Given the description of an element on the screen output the (x, y) to click on. 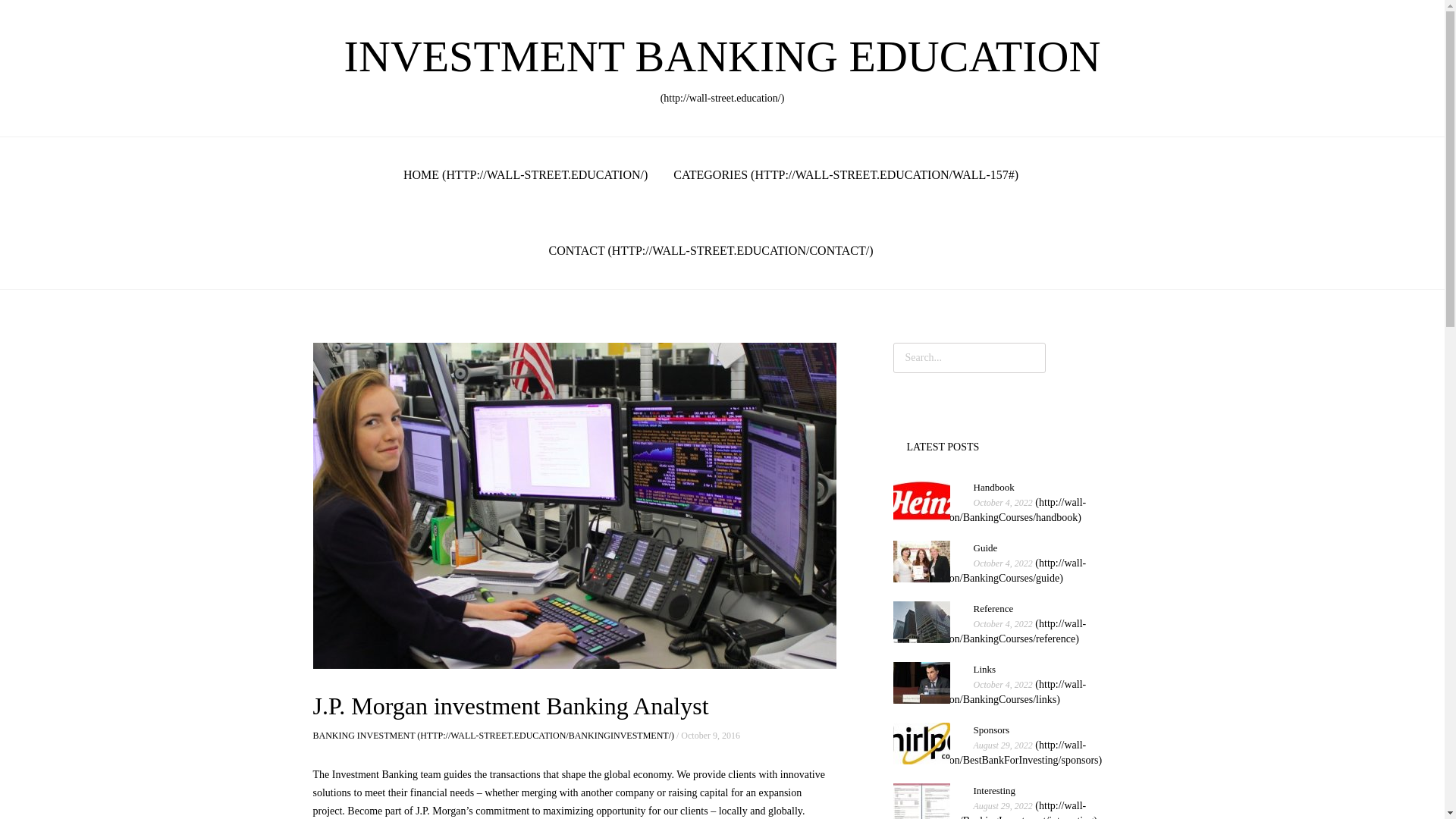
CONTACT (989, 570)
CATEGORIES (989, 631)
HOME (995, 809)
BANKING INVESTMENT (710, 250)
